Given the description of an element on the screen output the (x, y) to click on. 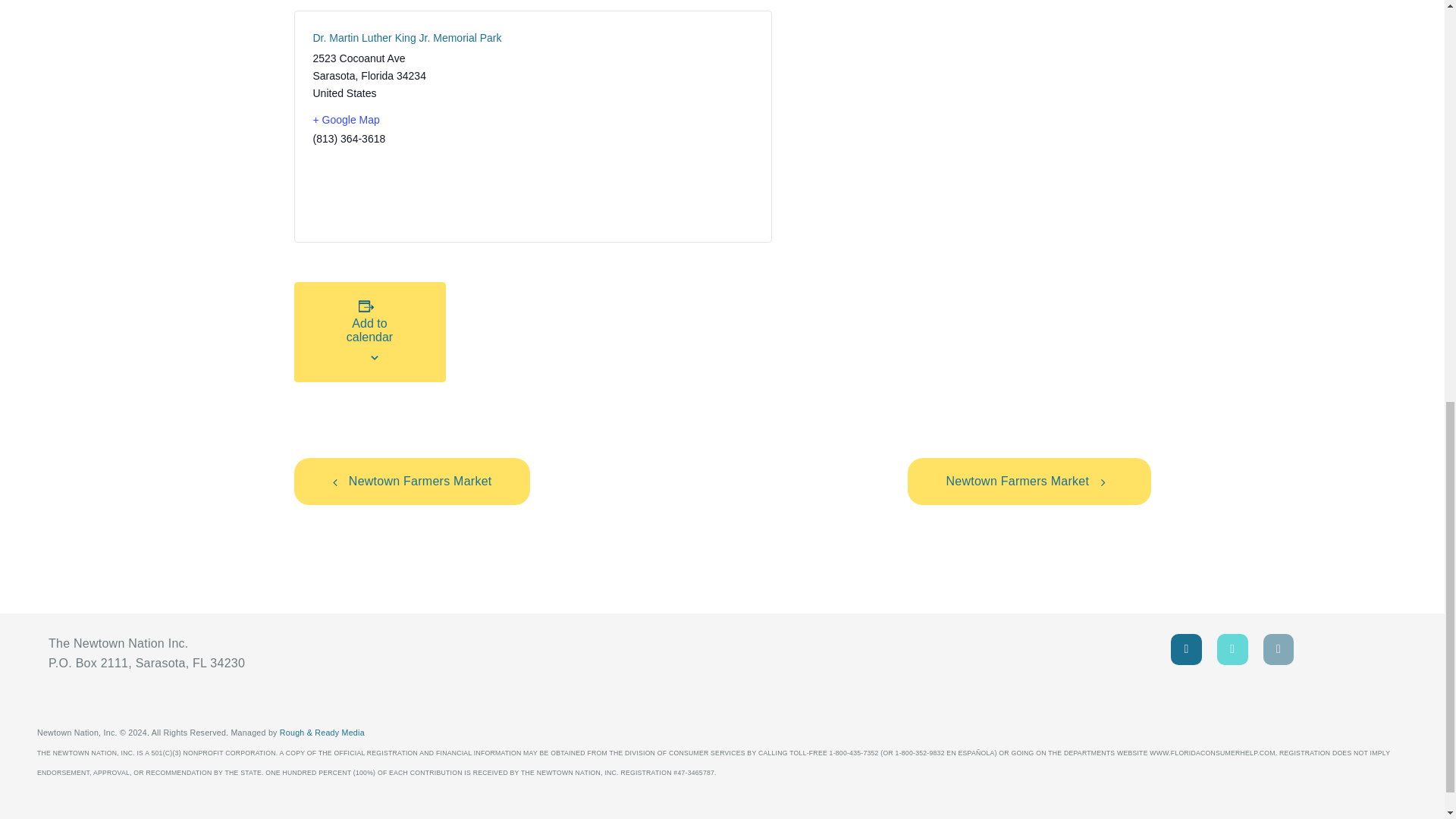
Florida (377, 75)
Click to view a Google Map (416, 119)
Dr. Martin Luther King Jr. Memorial Park (416, 37)
